Given the description of an element on the screen output the (x, y) to click on. 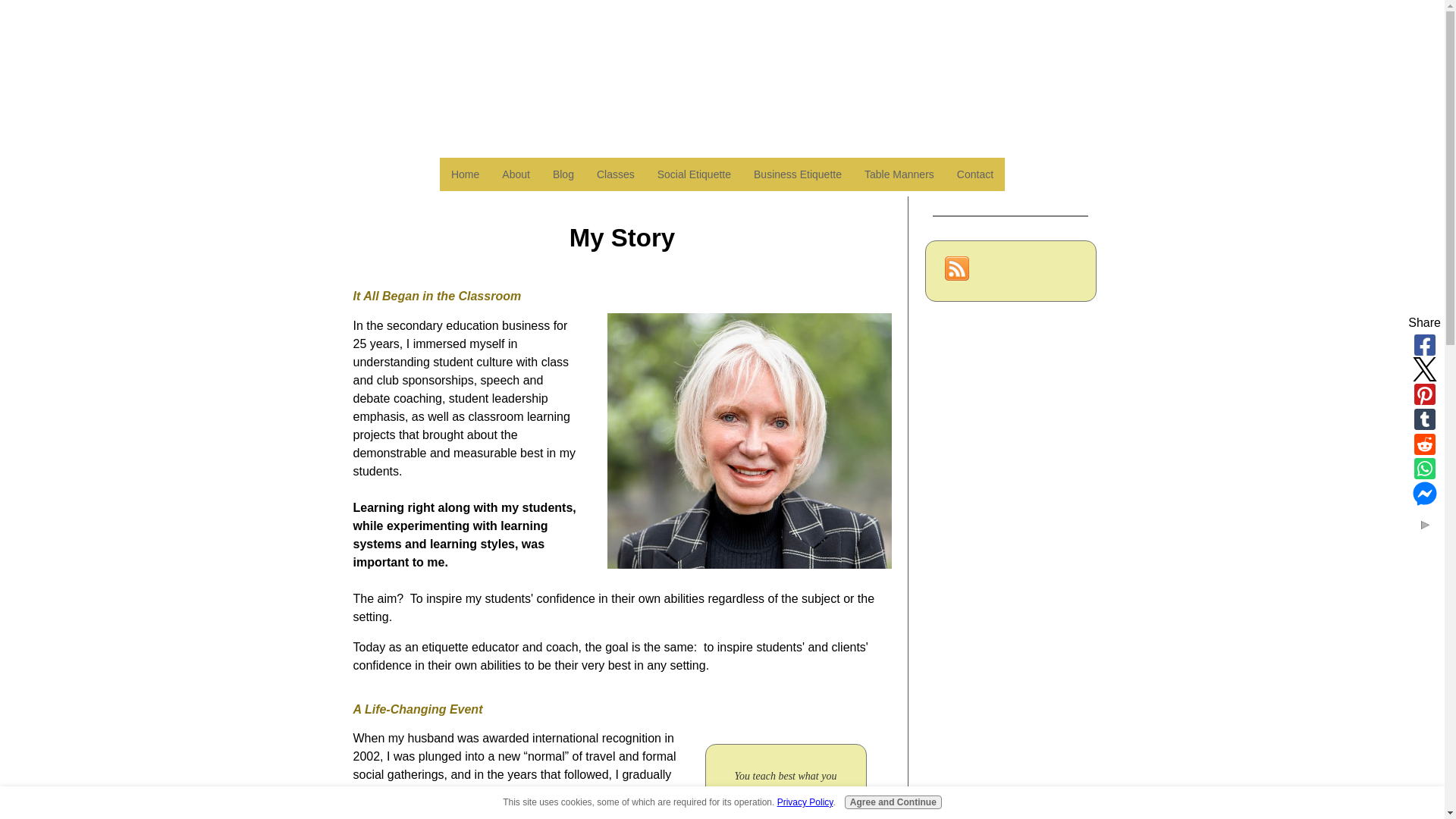
Home (464, 174)
Classes (615, 174)
Candace Smith, founder of Candace Smith Etiquette (749, 440)
Blog (563, 174)
Contact (974, 174)
About (515, 174)
